Given the description of an element on the screen output the (x, y) to click on. 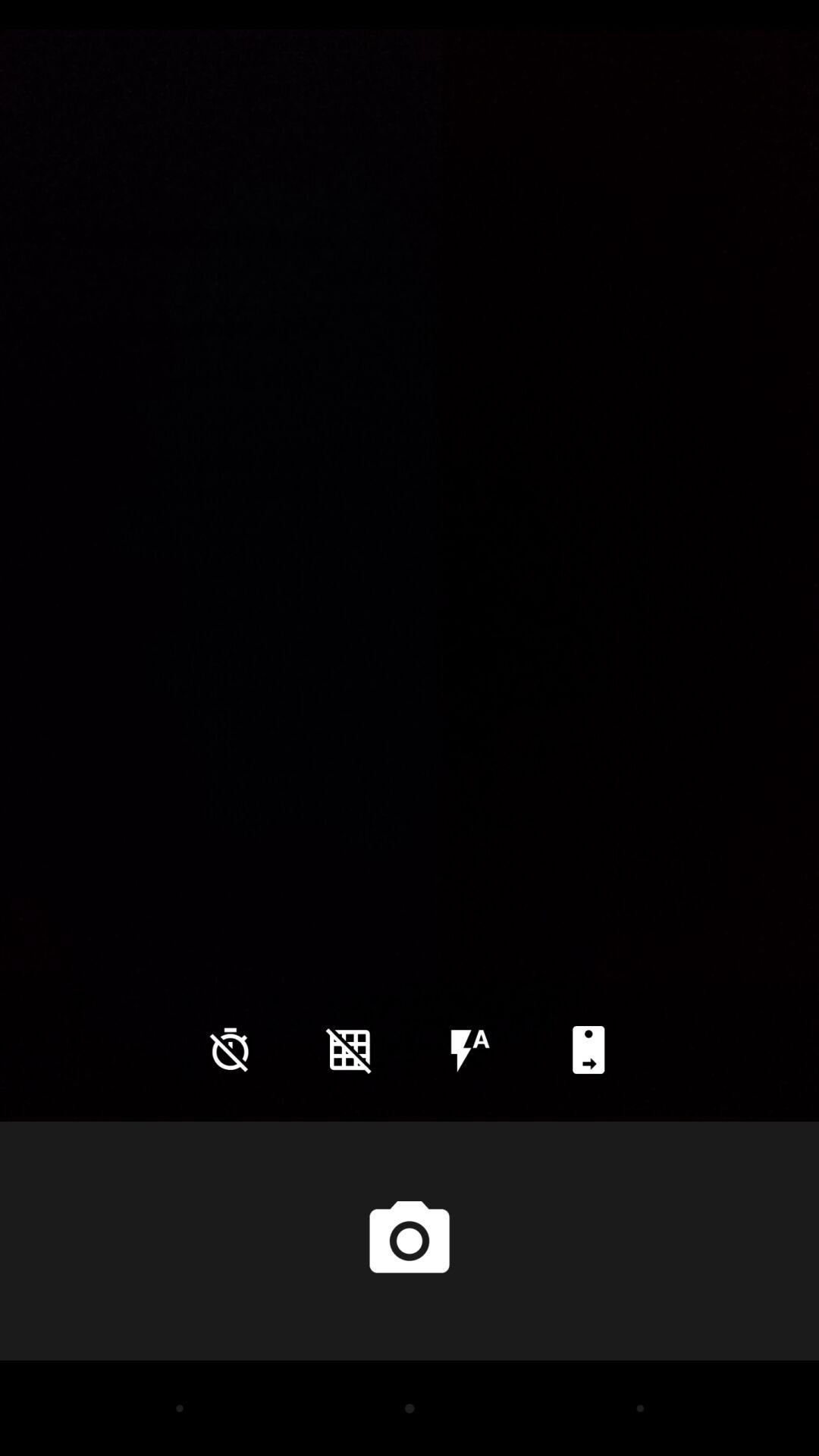
press item at the bottom left corner (230, 1049)
